Given the description of an element on the screen output the (x, y) to click on. 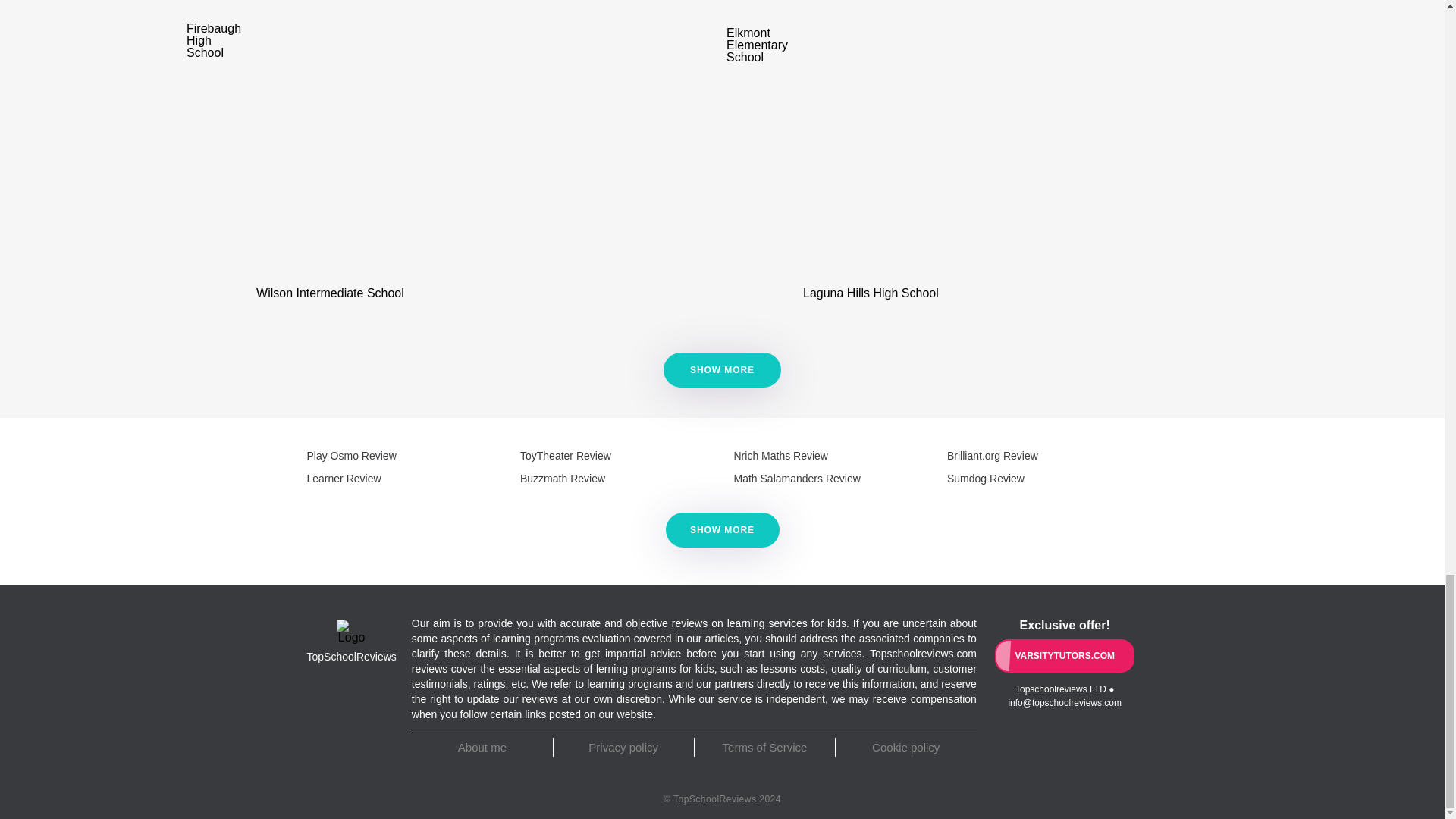
Play Osmo Review (350, 455)
Learner Review (342, 478)
SHOW MORE (721, 369)
SHOW MORE (721, 369)
